Given the description of an element on the screen output the (x, y) to click on. 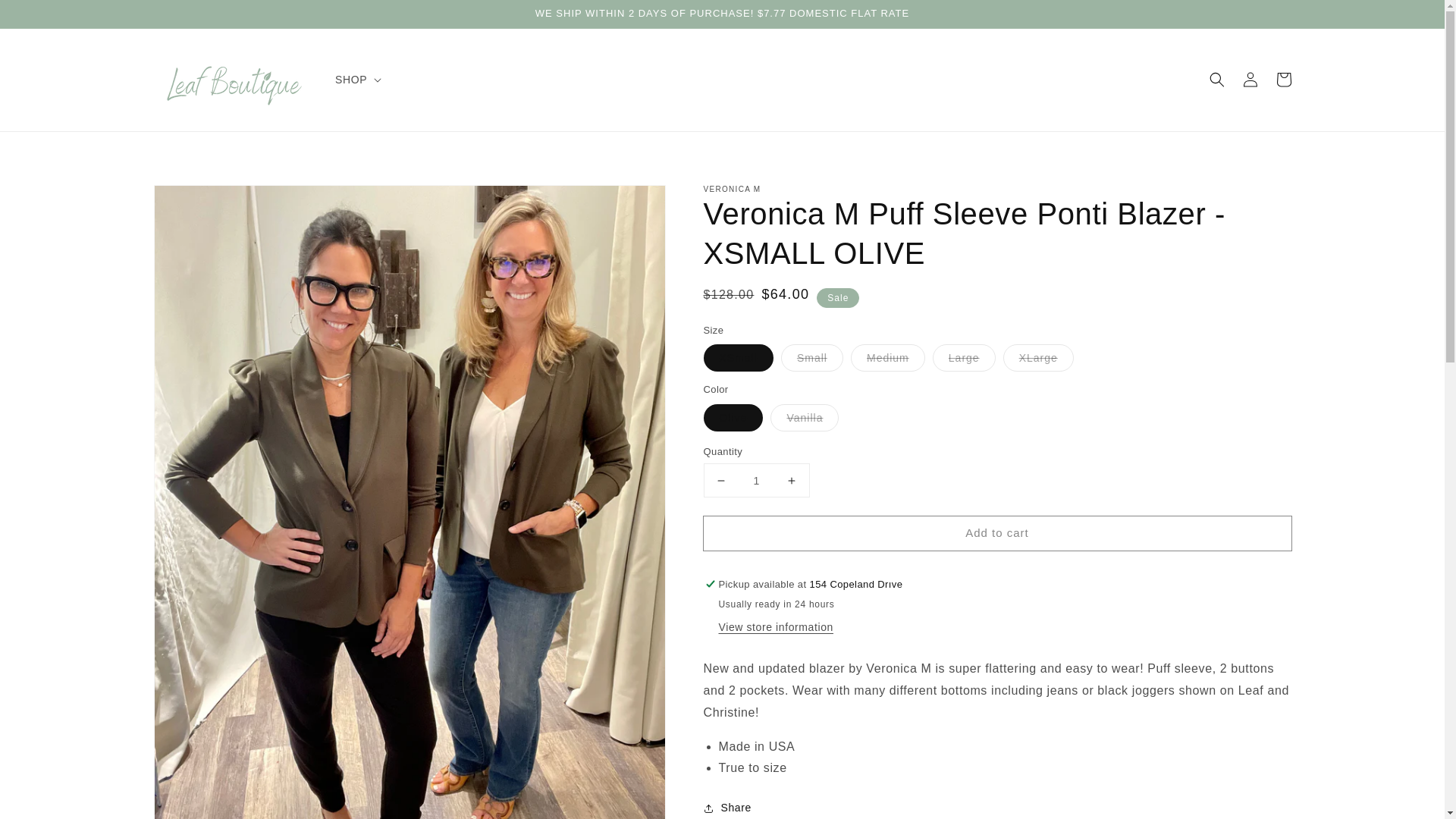
1 (756, 480)
Skip to content (45, 16)
